Given the description of an element on the screen output the (x, y) to click on. 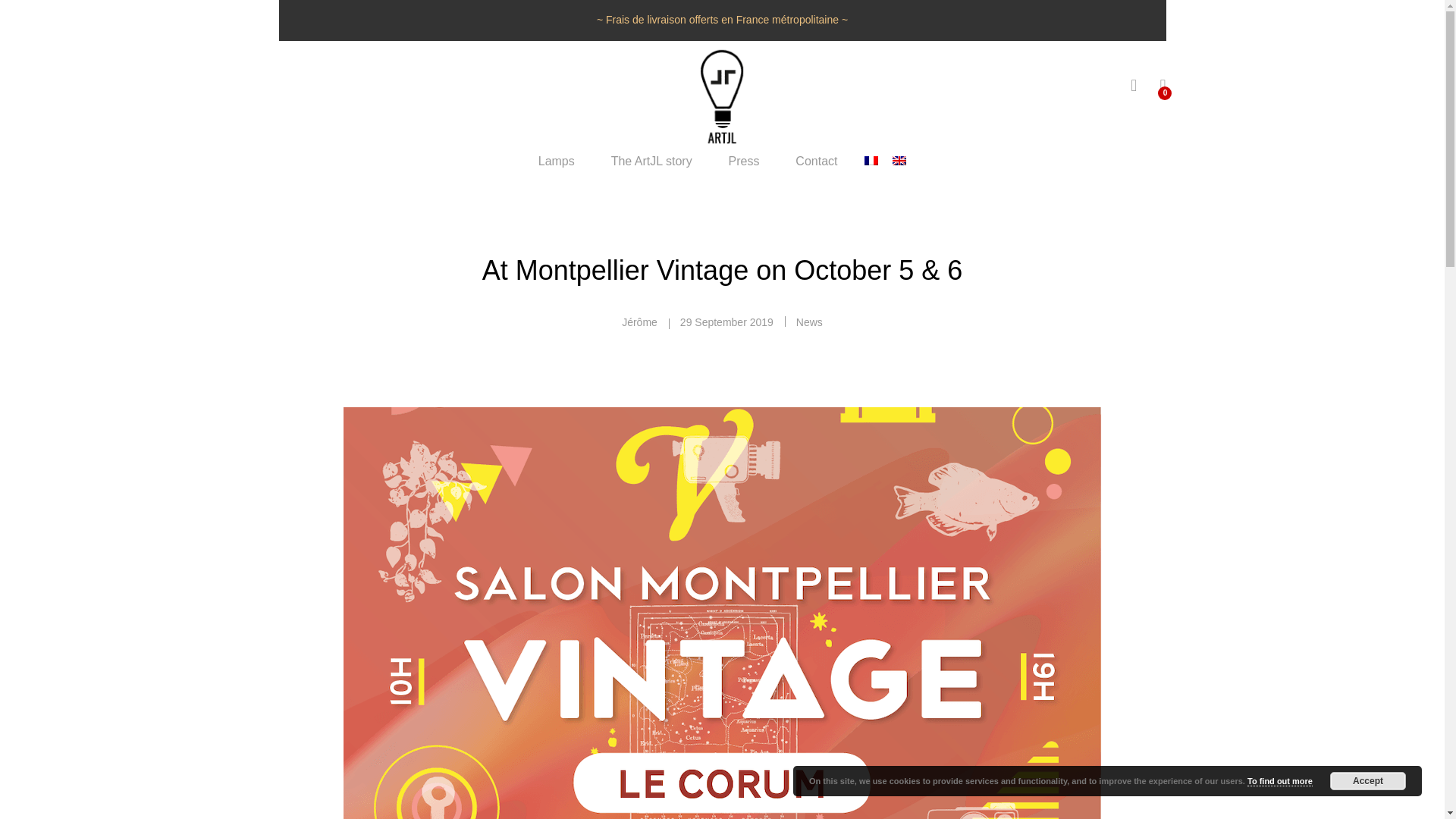
Press (744, 161)
The ArtJL story (652, 161)
Lamps (556, 161)
Contact (815, 161)
